Given the description of an element on the screen output the (x, y) to click on. 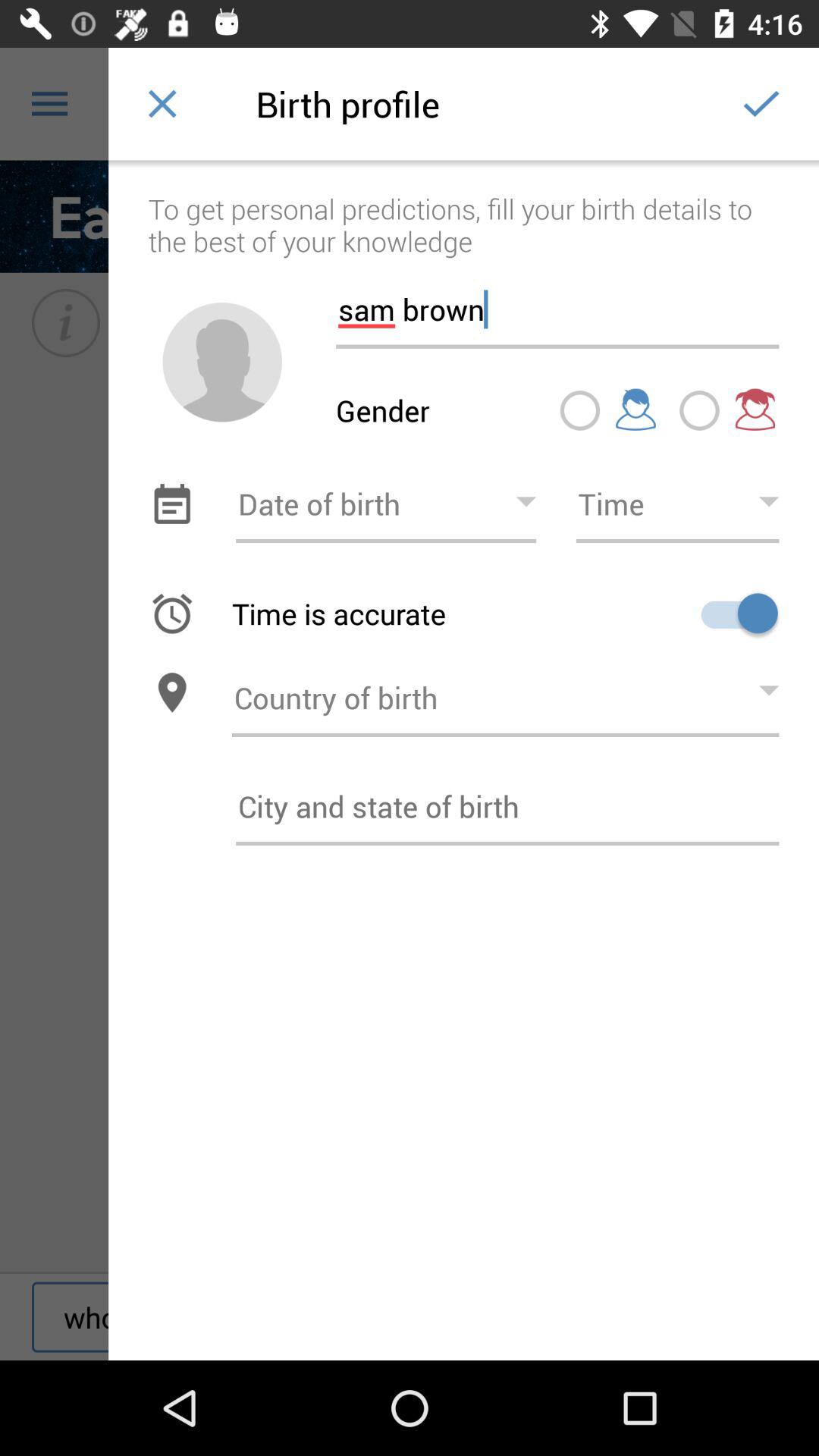
date of birth button (386, 503)
